Given the description of an element on the screen output the (x, y) to click on. 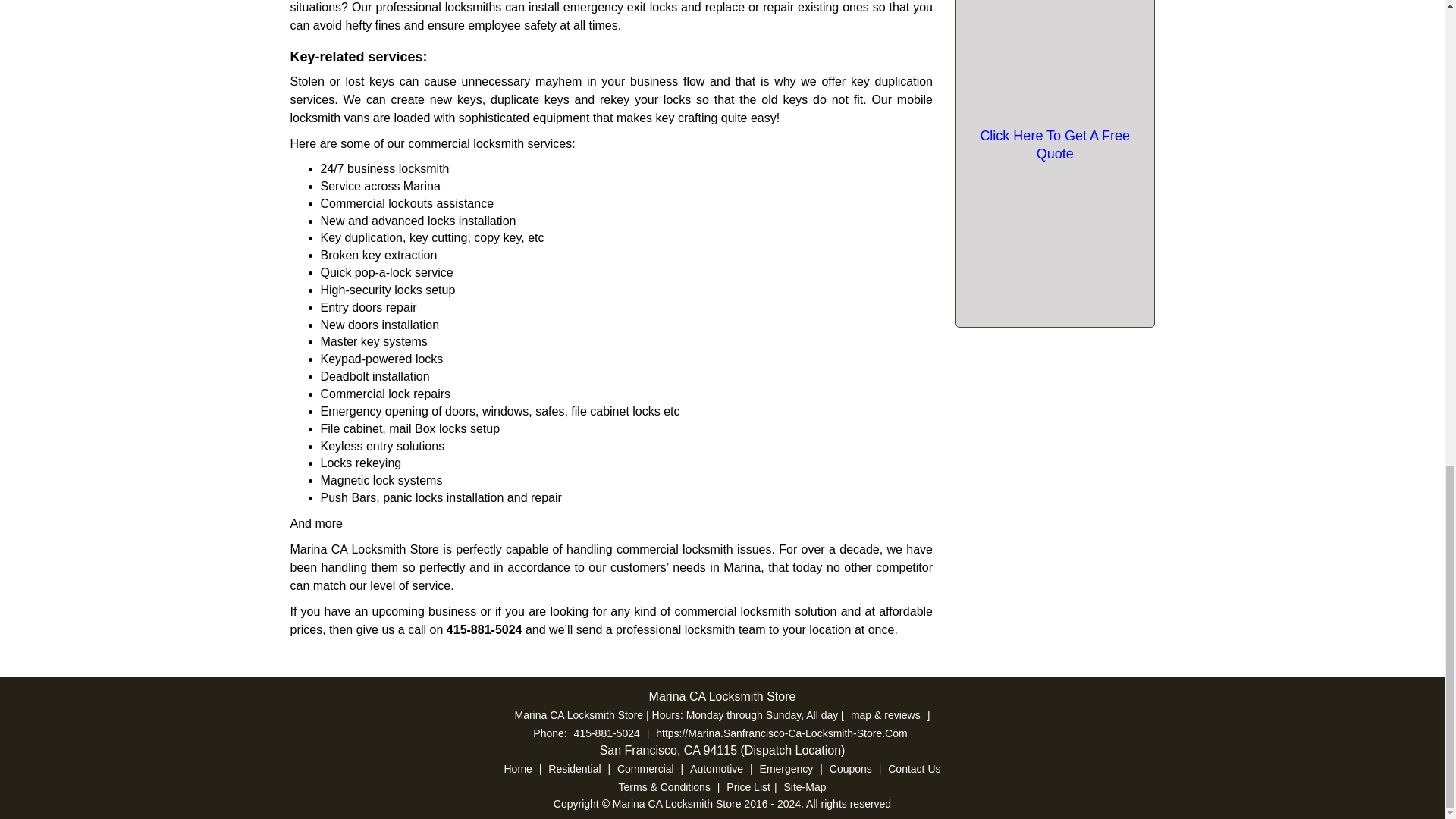
Price List (748, 787)
415-881-5024 (484, 629)
Site-Map (803, 787)
Automotive (715, 768)
Home (517, 768)
Commercial (645, 768)
Contact Us (913, 768)
Click Here To Get A Free Quote (1054, 144)
Emergency (785, 768)
415-881-5024 (606, 733)
Residential (574, 768)
Coupons (850, 768)
